Given the description of an element on the screen output the (x, y) to click on. 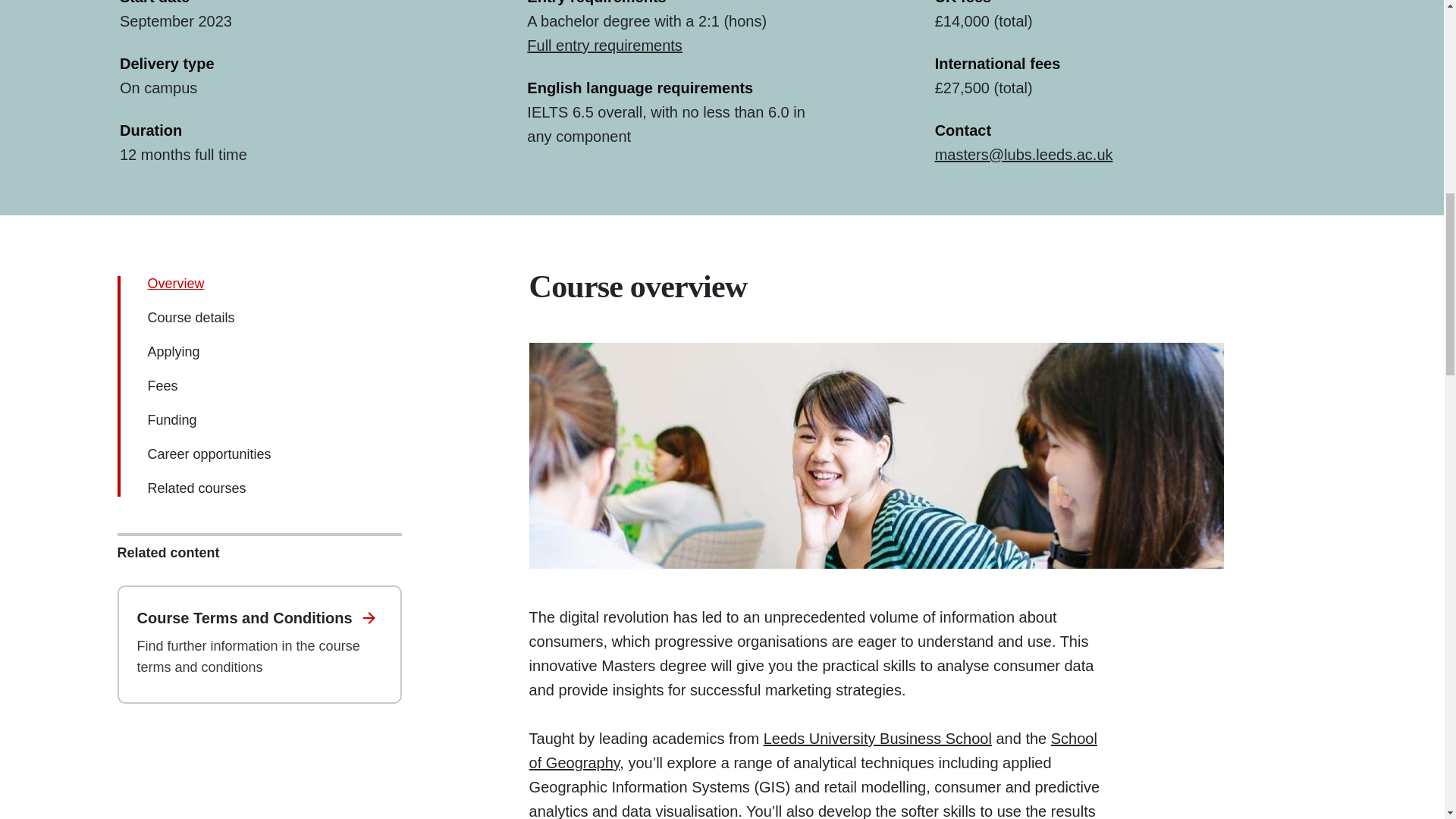
Funding (171, 419)
Career opportunities (208, 453)
Fees (162, 385)
Applying (173, 351)
Full entry requirements (604, 45)
Overview (175, 283)
Course details (190, 317)
